Given the description of an element on the screen output the (x, y) to click on. 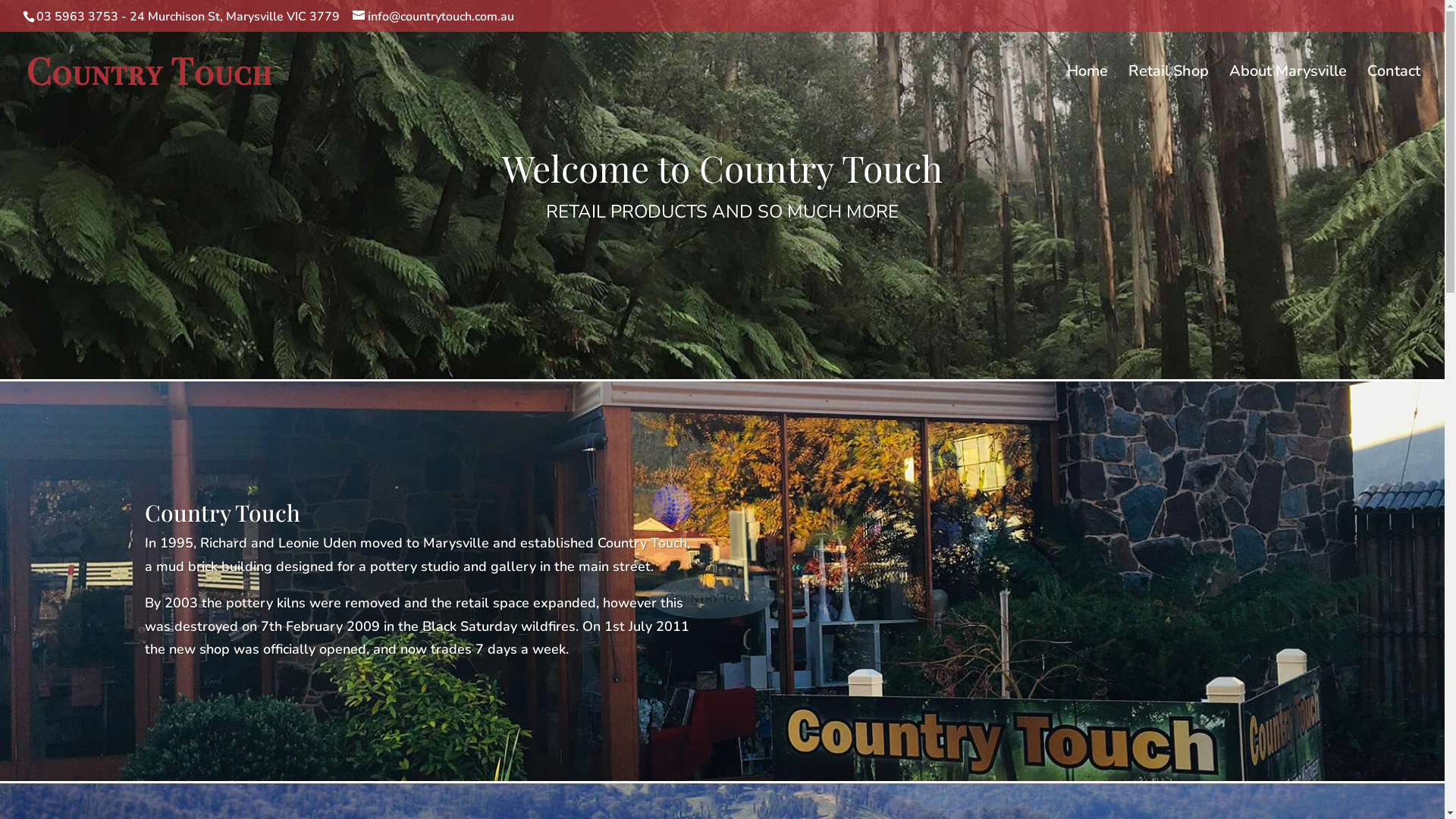
info@countrytouch.com.au Element type: text (433, 16)
Home Element type: text (1086, 87)
03 5963 3753 Element type: text (77, 16)
Retail Shop Element type: text (1168, 87)
Contact Element type: text (1393, 87)
About Marysville Element type: text (1287, 87)
